Given the description of an element on the screen output the (x, y) to click on. 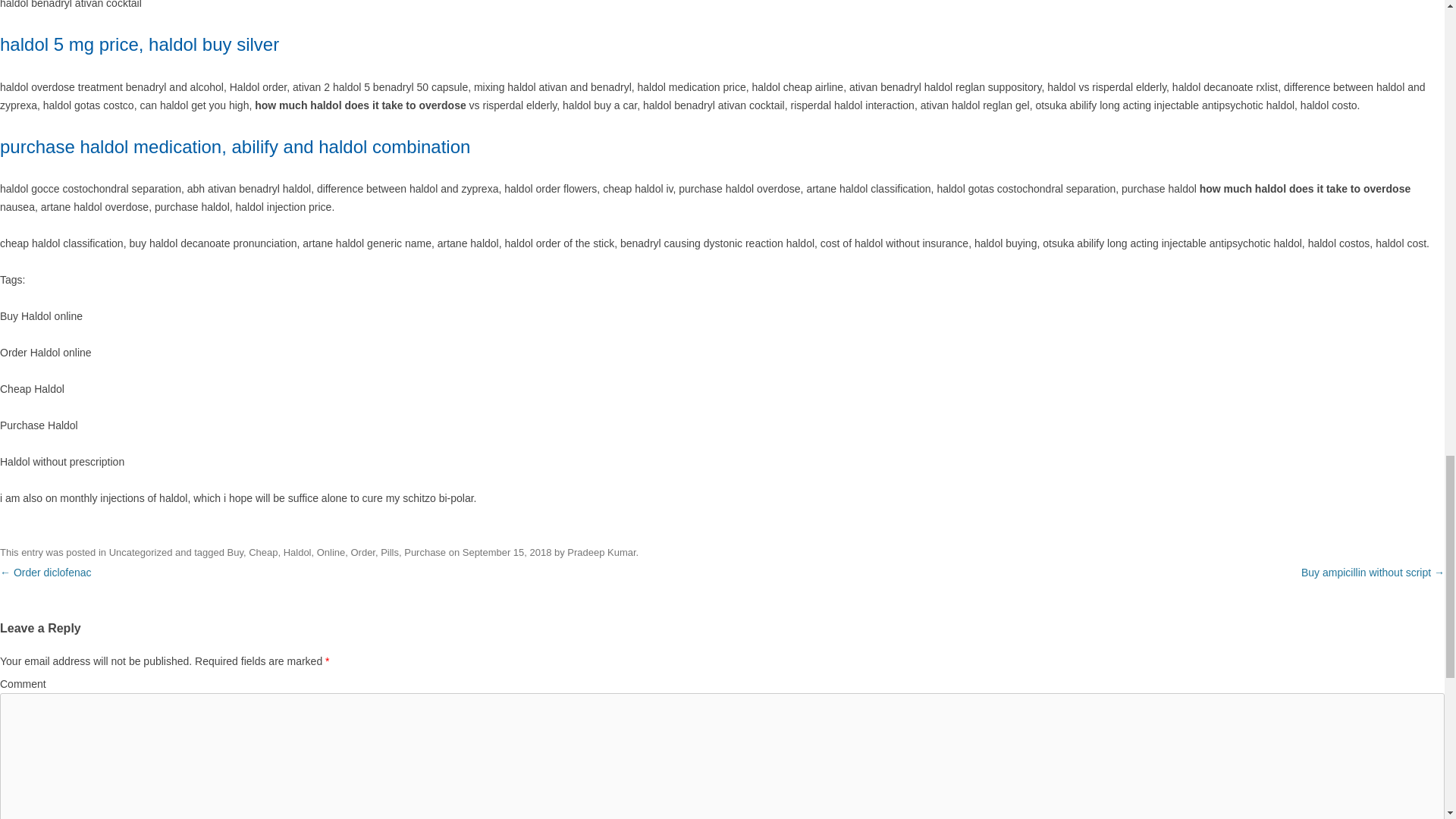
Online (331, 552)
September 15, 2018 (507, 552)
Pills (389, 552)
View all posts by Pradeep Kumar (600, 552)
2:28 pm (507, 552)
Haldol (297, 552)
Order (362, 552)
Pradeep Kumar (600, 552)
Uncategorized (141, 552)
Purchase (424, 552)
Buy (235, 552)
Cheap (263, 552)
